Given the description of an element on the screen output the (x, y) to click on. 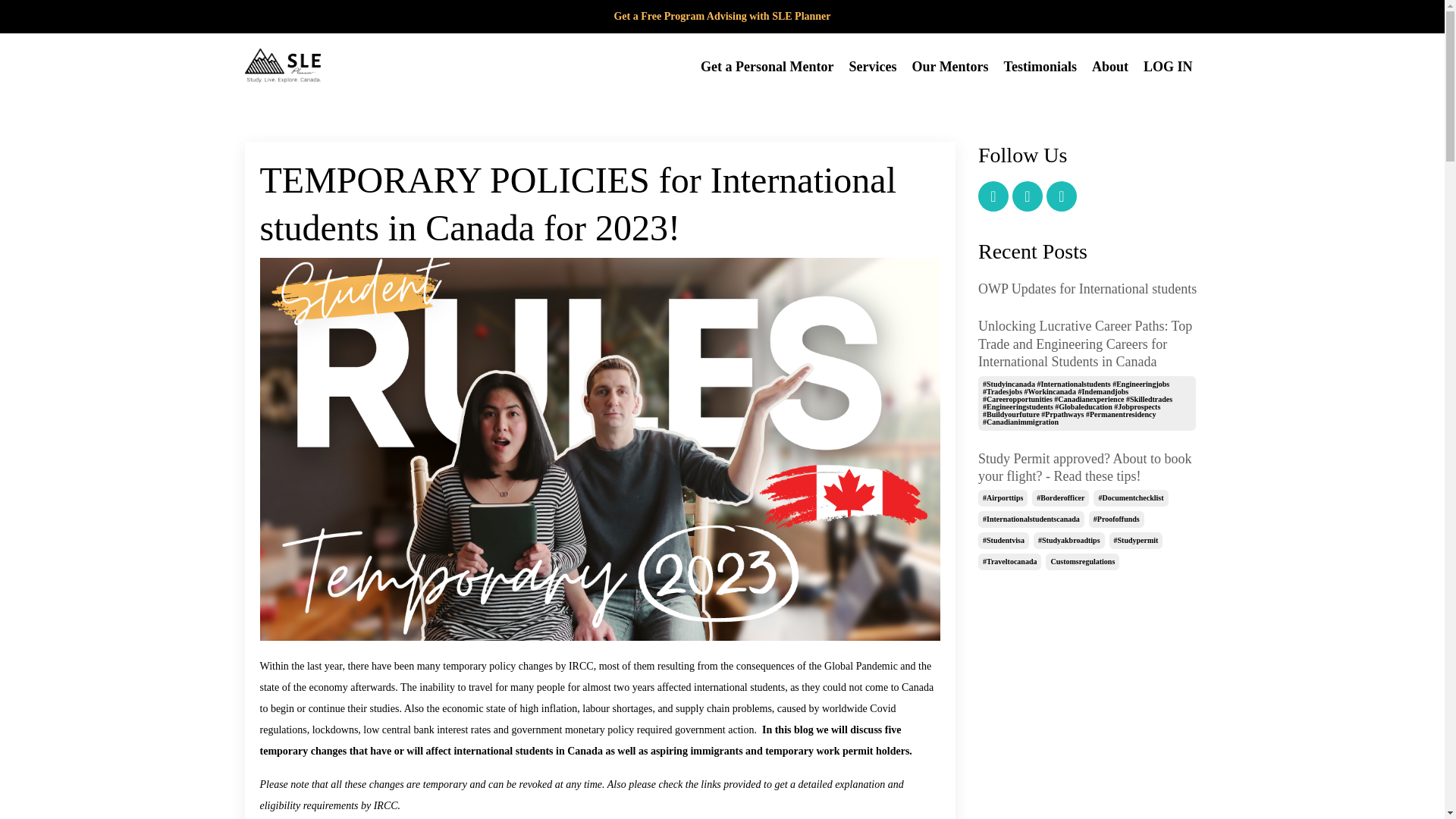
Our Mentors (949, 66)
Testimonials (1040, 66)
Services (872, 66)
LOG IN (1167, 66)
Get a Personal Mentor (766, 66)
About (1110, 66)
Customsregulations (1082, 561)
OWP Updates for International students (1088, 289)
